Given the description of an element on the screen output the (x, y) to click on. 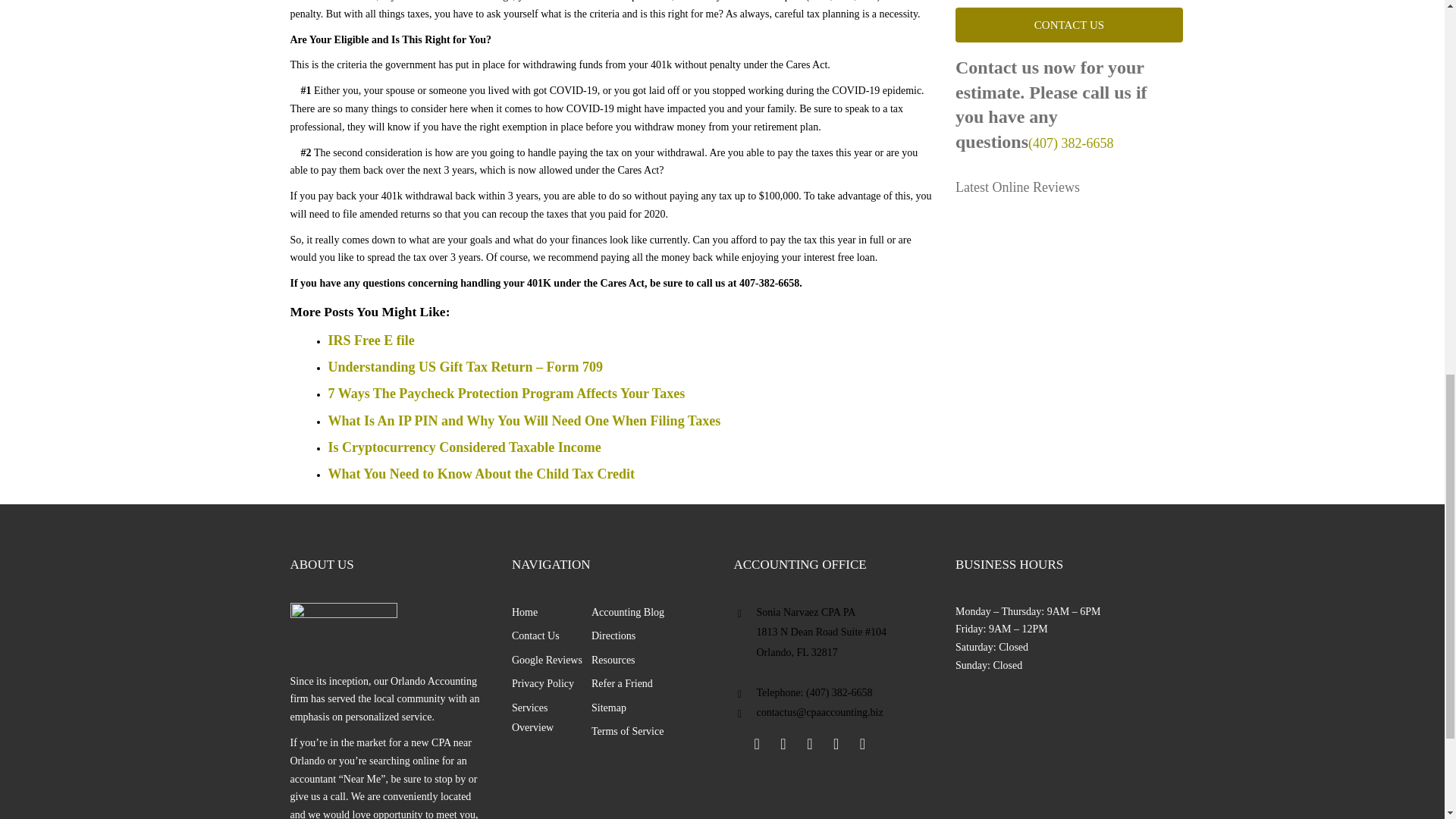
Linked In (809, 743)
7 Ways The Paycheck Protection Program Affects Your Taxes (505, 393)
Youtube (835, 743)
Is Cryptocurrency Considered Taxable Income (463, 447)
Contact Us (1068, 25)
IRS Free E file (370, 340)
Twitter (783, 743)
What You Need to Know About the Child Tax Credit (480, 473)
Facebook (756, 743)
